Given the description of an element on the screen output the (x, y) to click on. 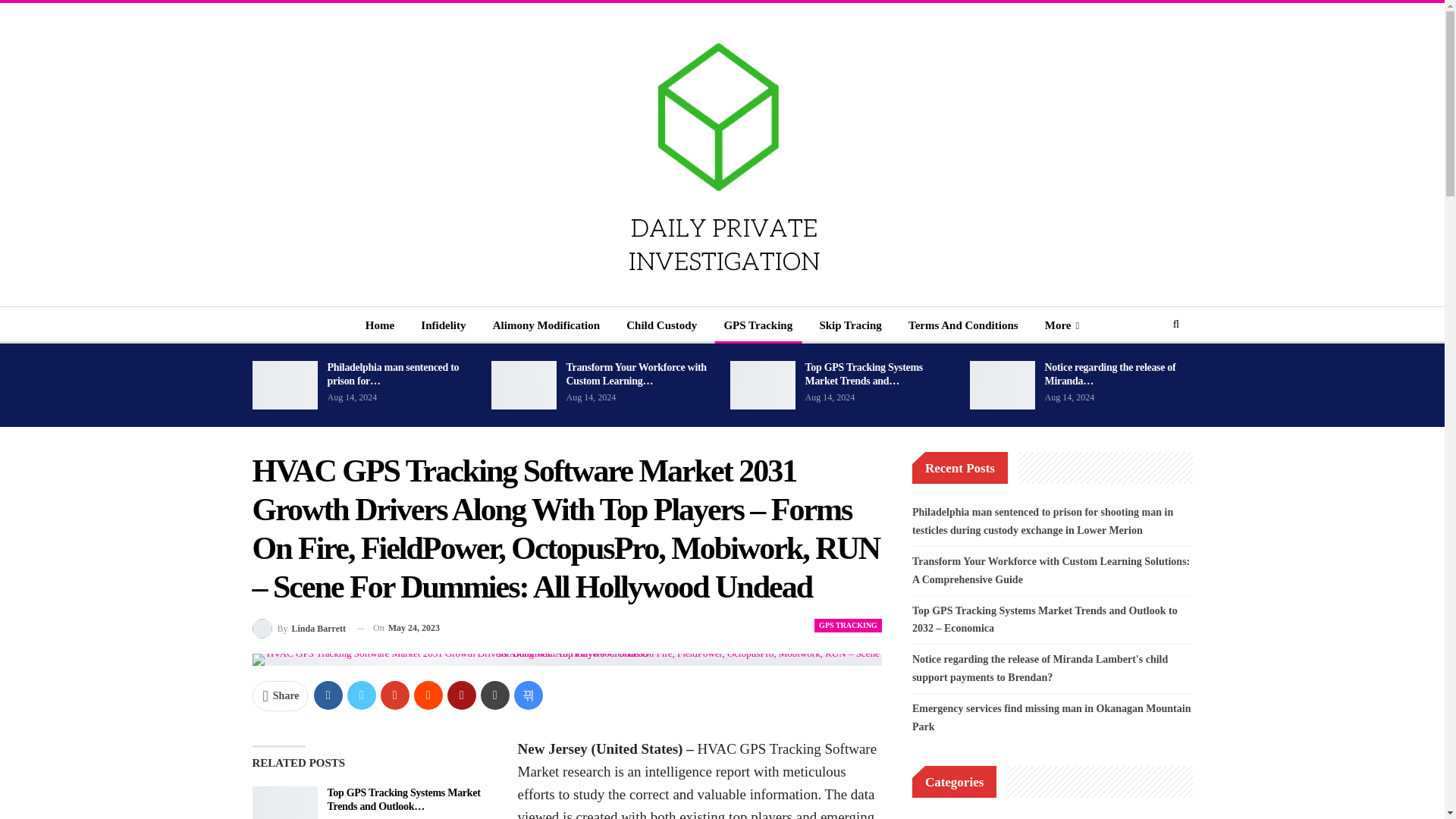
By Linda Barrett (298, 628)
Browse Author Articles (298, 628)
Infidelity (443, 325)
Home (379, 325)
Child Custody (661, 325)
Alimony Modification (545, 325)
GPS TRACKING (847, 625)
